Given the description of an element on the screen output the (x, y) to click on. 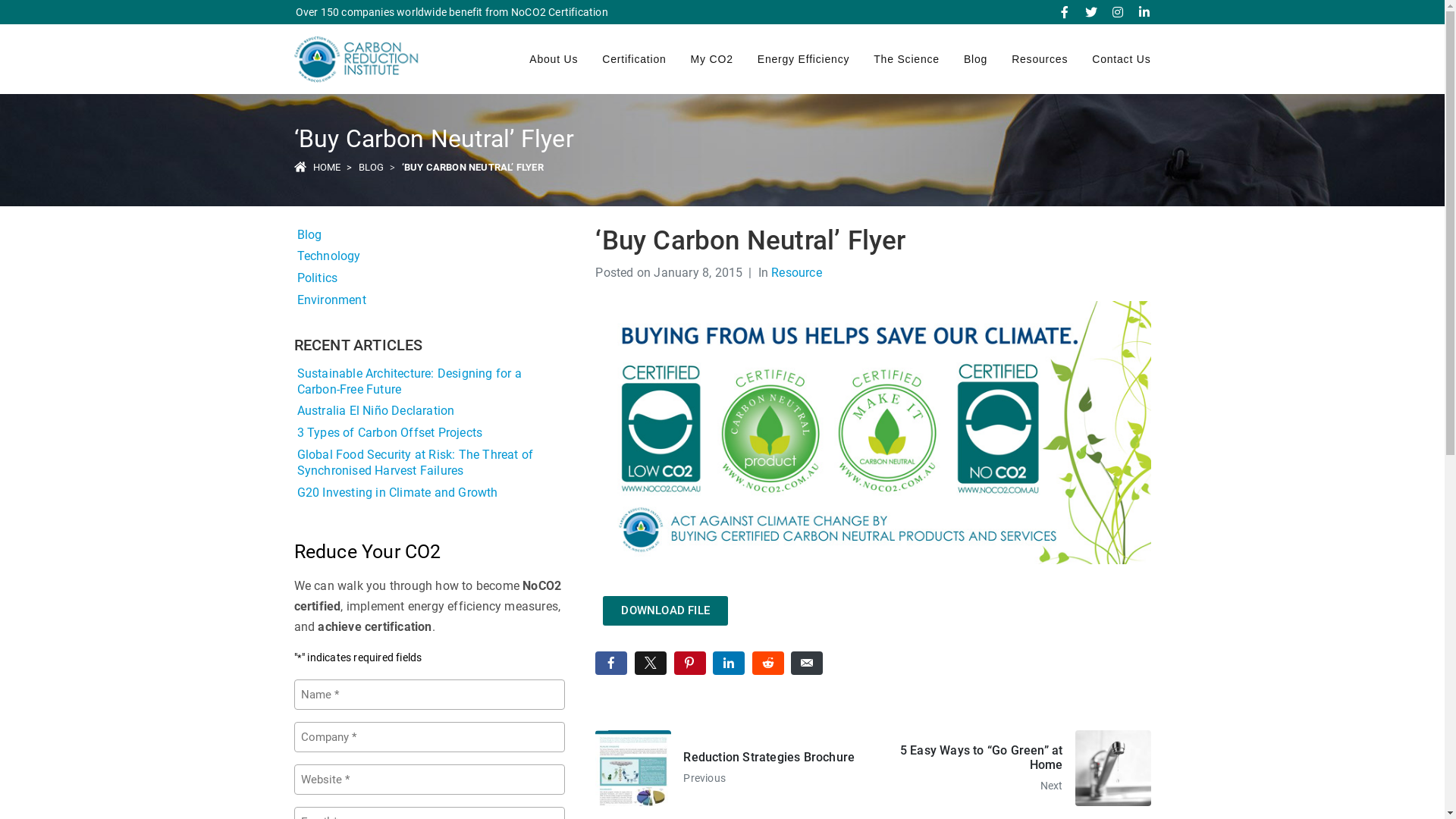
Blog Element type: text (429, 235)
Certification Element type: text (633, 59)
G20 Investing in Climate and Growth Element type: text (429, 493)
3 Types of Carbon Offset Projects Element type: text (429, 433)
HOME Element type: text (326, 166)
DOWNLOAD FILE Element type: text (665, 610)
Blog Element type: text (975, 59)
The Science Element type: text (906, 59)
Technology Element type: text (429, 256)
Politics Element type: text (429, 278)
About Us Element type: text (553, 59)
Reduction Strategies Brochure
Previous Element type: text (727, 768)
Resources Element type: text (1039, 59)
Environment Element type: text (429, 300)
Resource Element type: text (796, 272)
Sustainable Architecture: Designing for a Carbon-Free Future Element type: text (429, 382)
Contact Us Element type: text (1120, 59)
My CO2 Element type: text (711, 59)
Energy Efficiency Element type: text (803, 59)
